Given the description of an element on the screen output the (x, y) to click on. 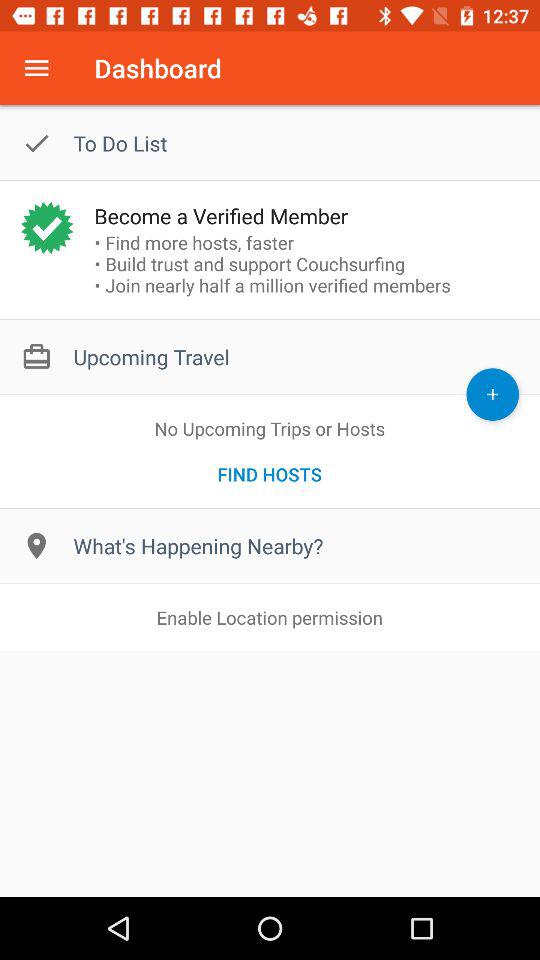
add upcoming trip (492, 394)
